Given the description of an element on the screen output the (x, y) to click on. 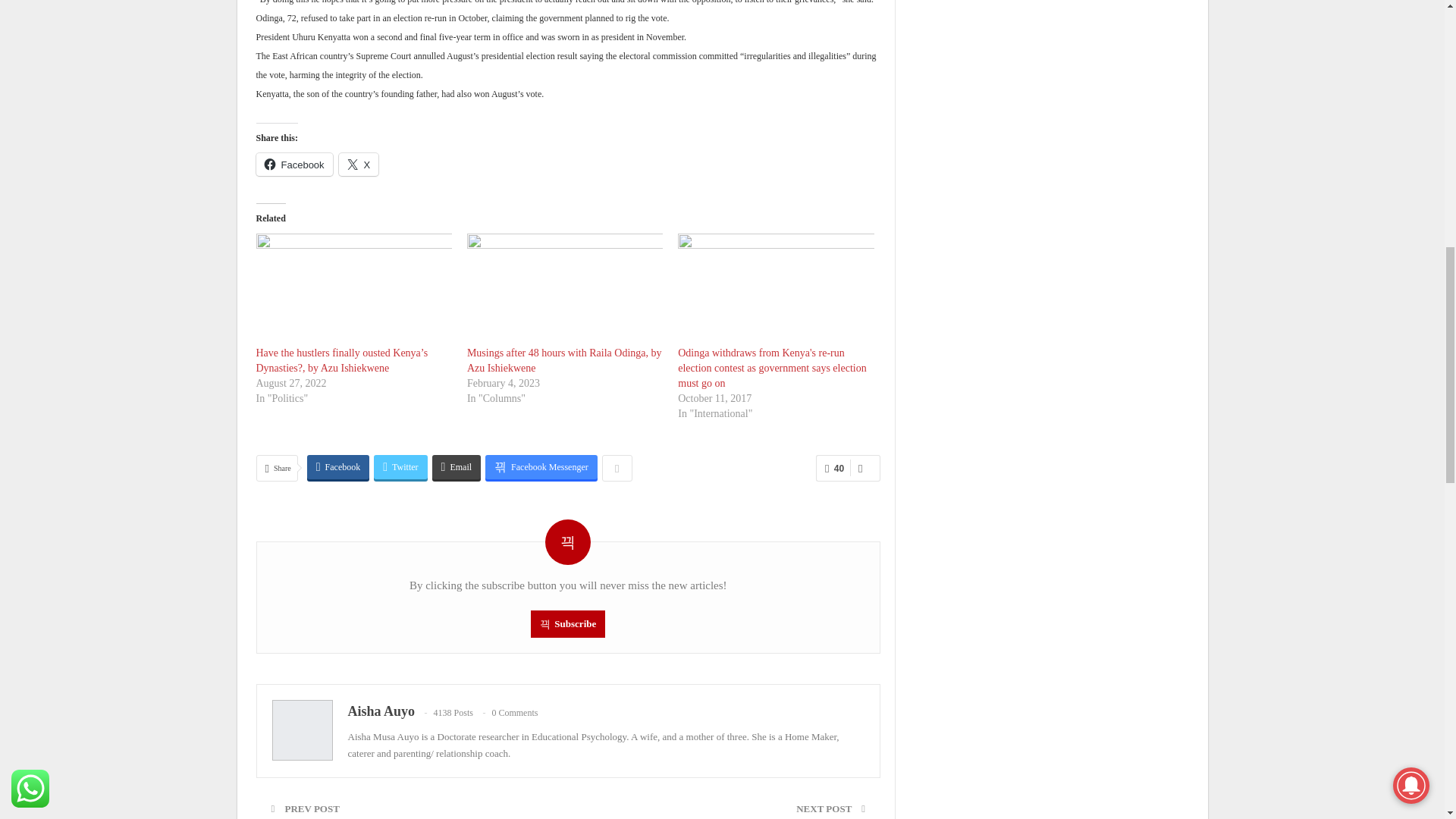
Musings after 48 hours with Raila Odinga, by Azu Ishiekwene (564, 289)
Click to share on X (358, 164)
Musings after 48 hours with Raila Odinga, by Azu Ishiekwene (564, 360)
Click to share on Facebook (294, 164)
